Given the description of an element on the screen output the (x, y) to click on. 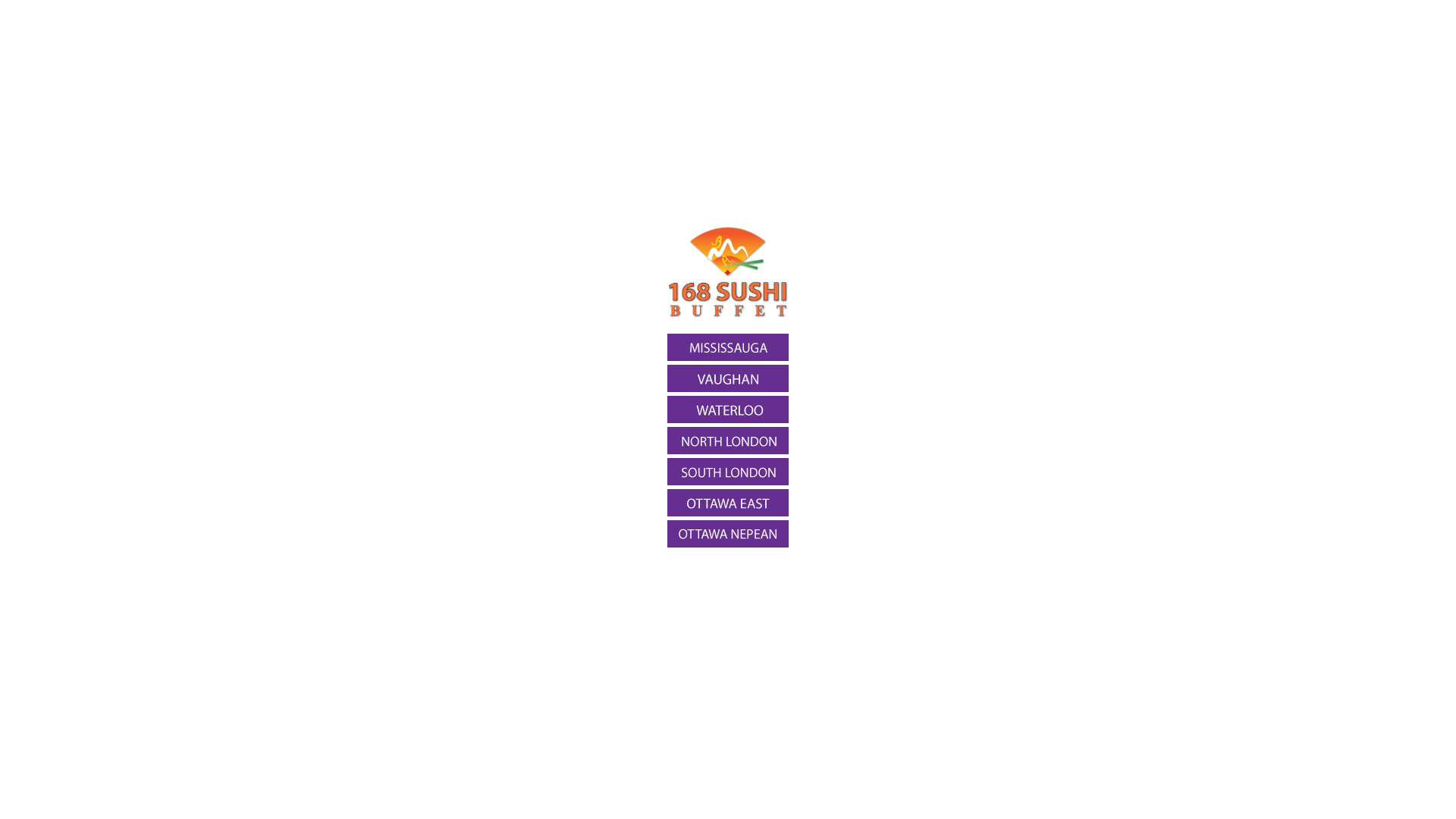
Mississauga Element type: hover (727, 346)
Ottawa Nepean Element type: hover (727, 533)
Ottawa East Element type: hover (727, 502)
Waterloo Element type: hover (727, 409)
168 Sushi Buffet Element type: hover (727, 314)
South London Element type: hover (727, 471)
Vaughan Element type: hover (727, 378)
North London Element type: hover (727, 440)
